Given the description of an element on the screen output the (x, y) to click on. 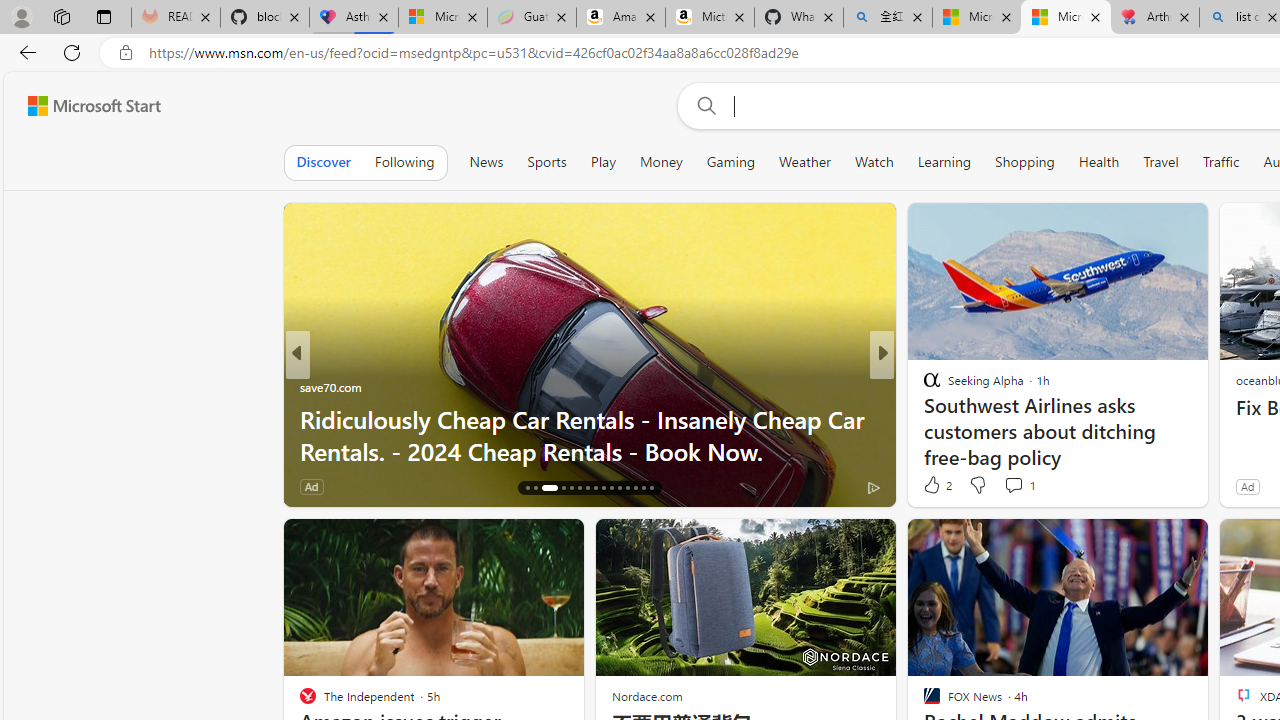
Inverse (923, 386)
View comments 3 Comment (1019, 486)
AutomationID: tab-21 (578, 487)
Gaming (730, 162)
AutomationID: tab-19 (563, 487)
View comments 9 Comment (1014, 485)
SB Nation (923, 386)
71 Like (934, 486)
310 Like (936, 486)
2 Like (936, 484)
Nordace.com (646, 696)
